Given the description of an element on the screen output the (x, y) to click on. 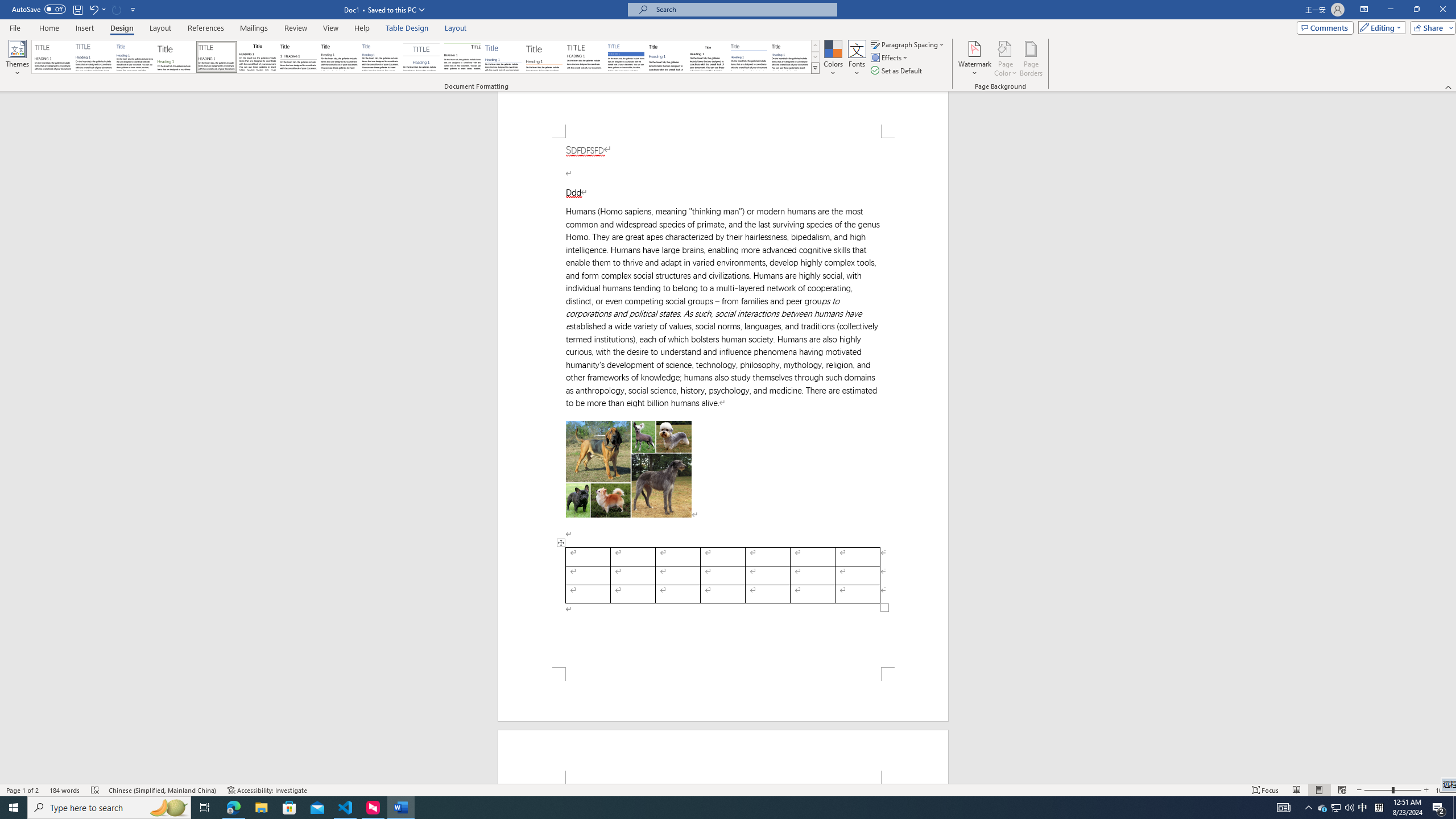
Morphological variation in six dogs (628, 468)
Print Layout (1318, 790)
Class: NetUIScrollBar (1450, 437)
More Options (103, 9)
View (330, 28)
Word 2003 (707, 56)
Customize Quick Access Toolbar (133, 9)
Basic (Simple) (135, 56)
Can't Repeat (117, 9)
Word (666, 56)
Zoom Out (1377, 790)
Accessibility Checker Accessibility: Investigate (266, 790)
Casual (379, 56)
